Given the description of an element on the screen output the (x, y) to click on. 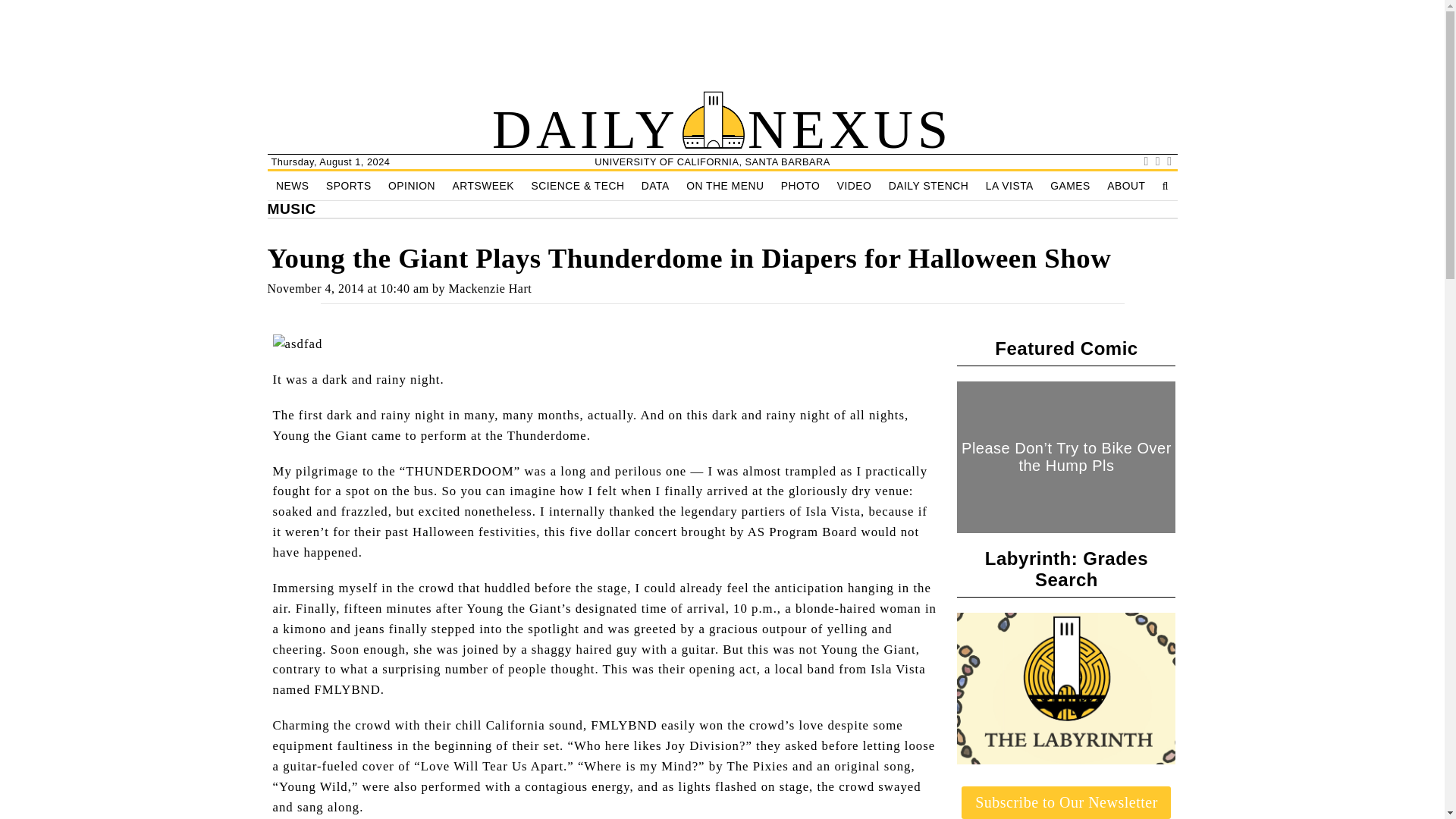
Posts by Mackenzie Hart (490, 287)
